Given the description of an element on the screen output the (x, y) to click on. 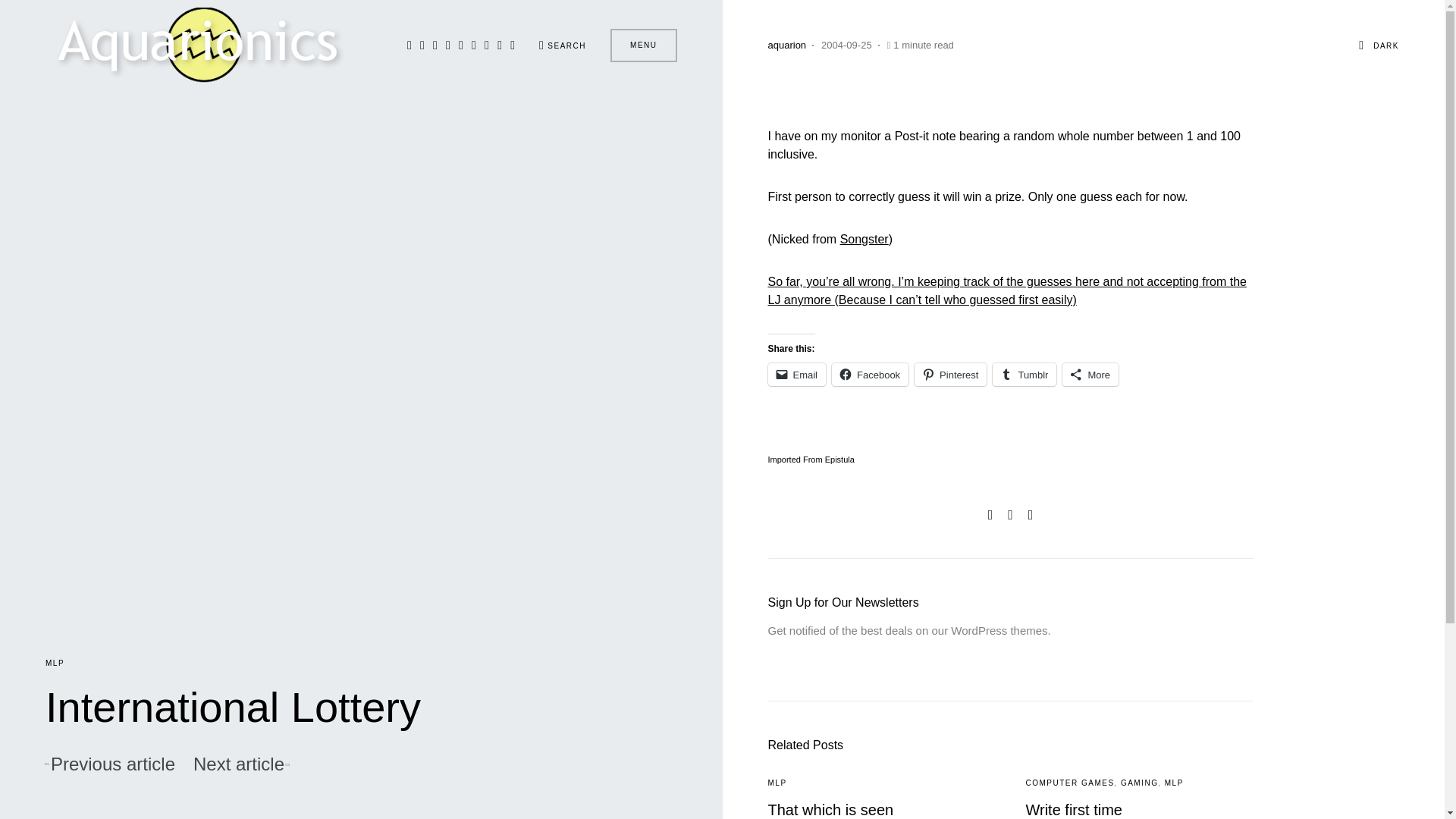
Click to share on Tumblr (1024, 374)
Click to share on Facebook (869, 374)
MLP (54, 663)
Click to share on Pinterest (950, 374)
View all posts by aquarion (786, 45)
Previous article (109, 764)
Click to email a link to a friend (796, 374)
Next article (241, 764)
